Given the description of an element on the screen output the (x, y) to click on. 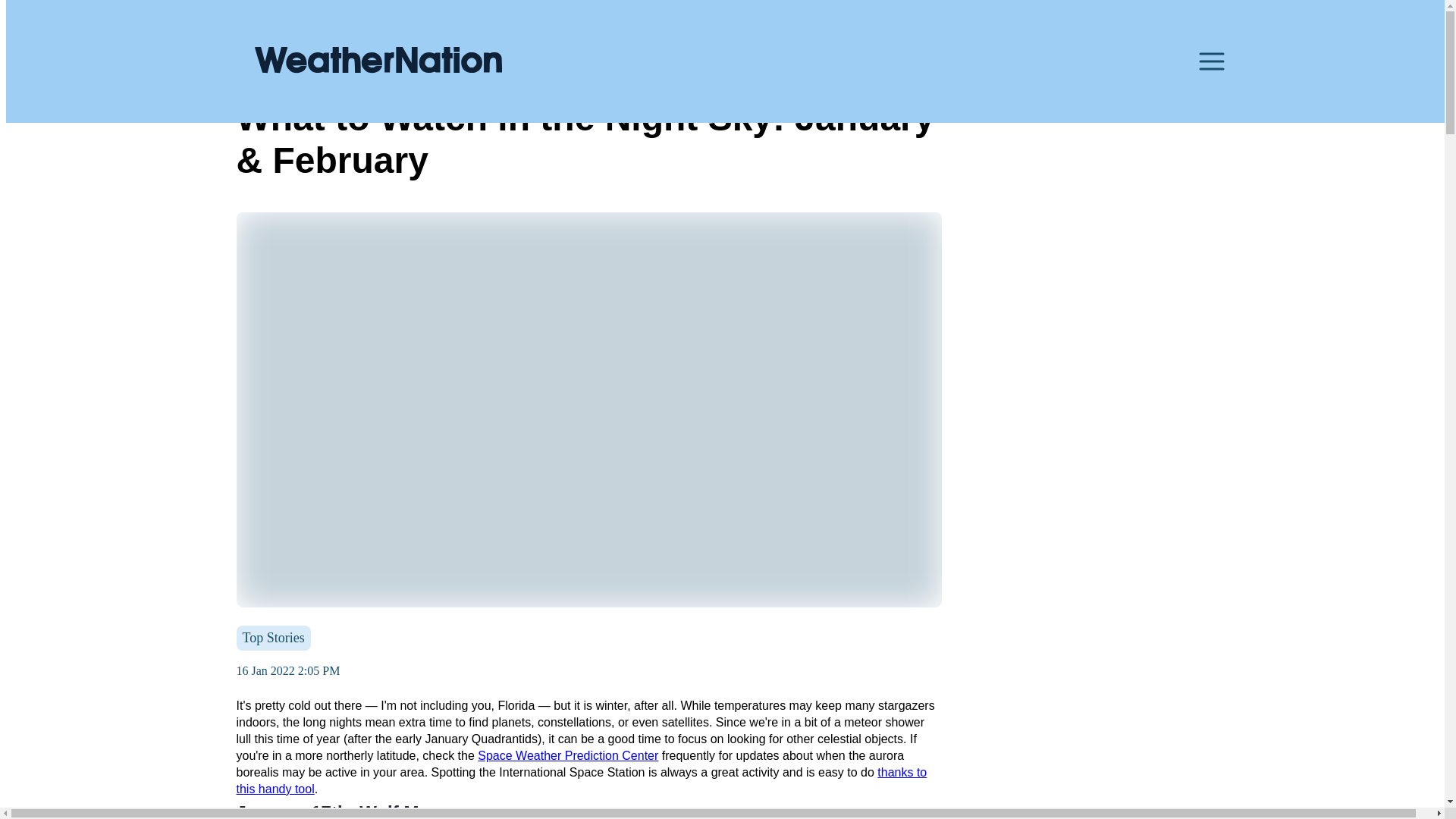
Space Weather Prediction Center (567, 755)
thanks to this handy tool (581, 780)
